Given the description of an element on the screen output the (x, y) to click on. 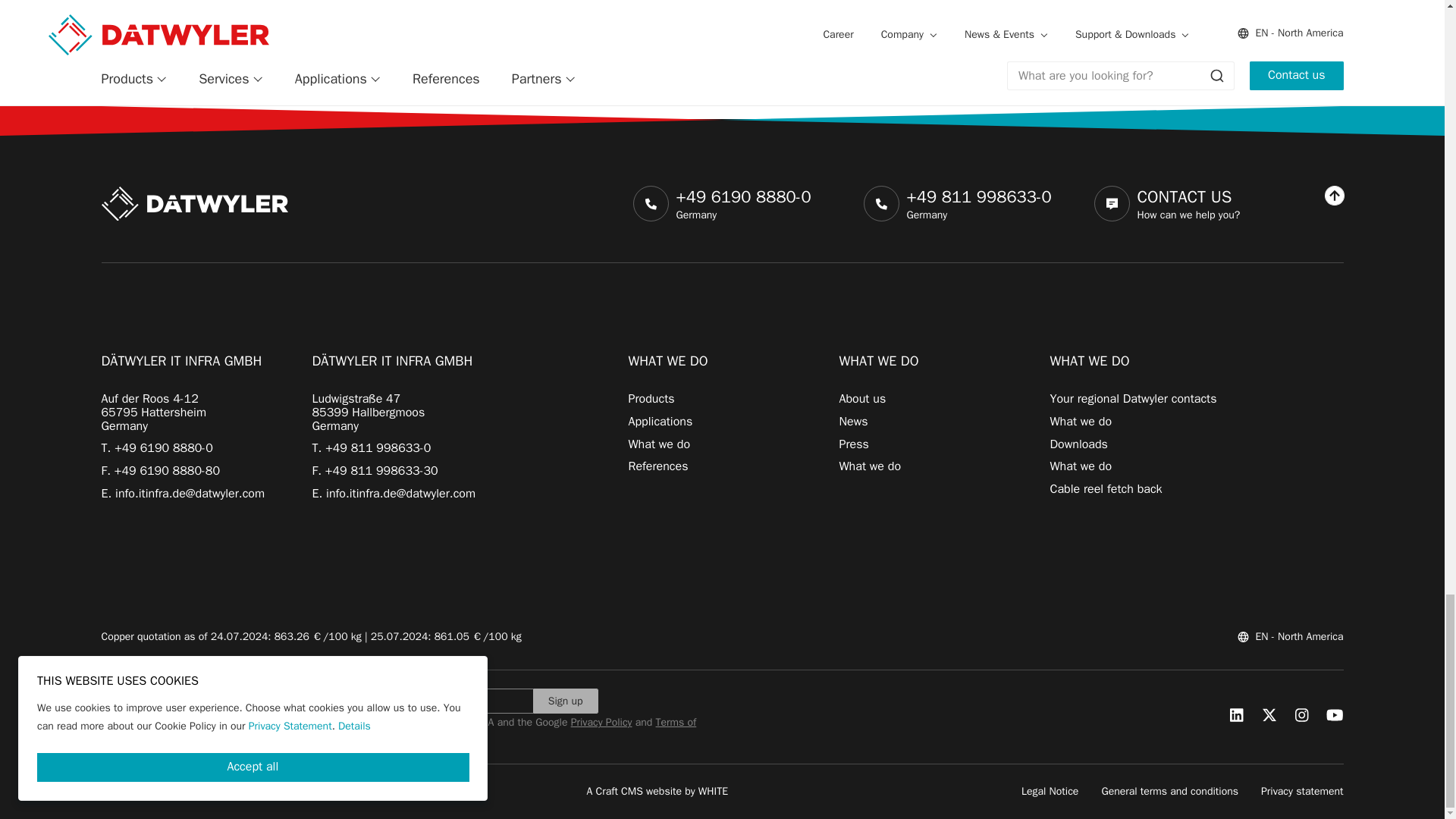
Craft CMS website developed by WHITE Digital Agency (657, 790)
